Given the description of an element on the screen output the (x, y) to click on. 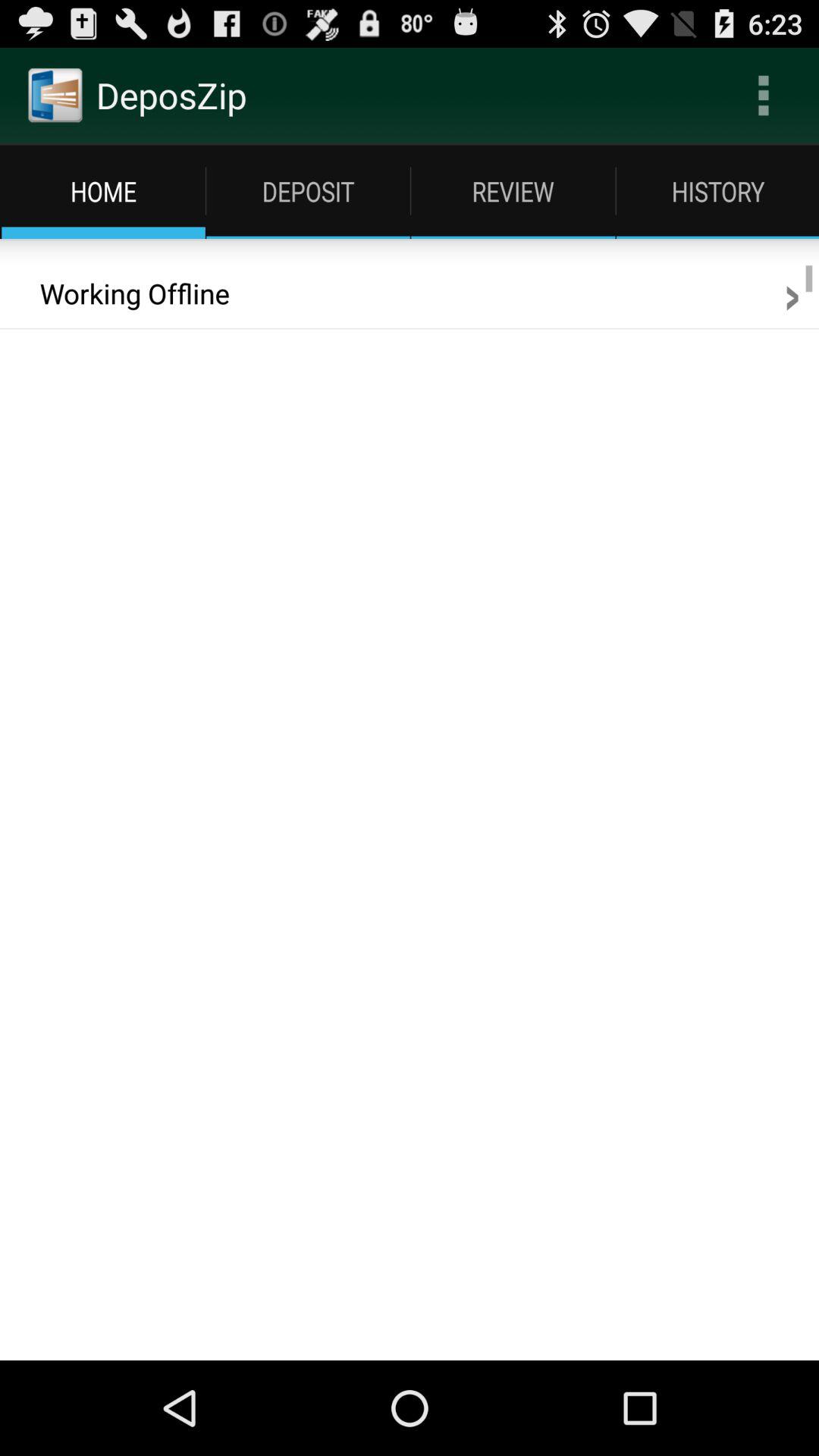
swipe until > (792, 293)
